Given the description of an element on the screen output the (x, y) to click on. 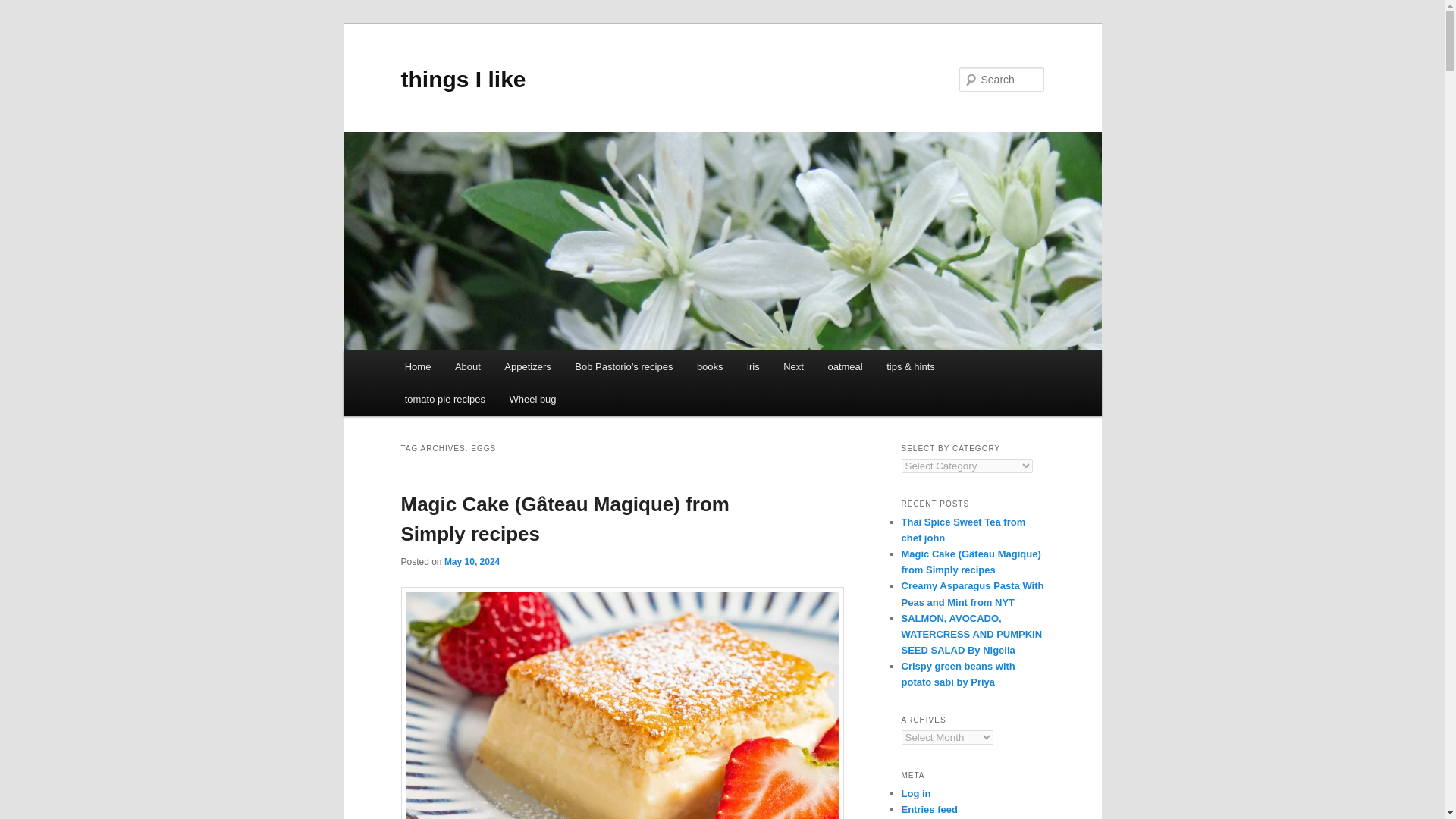
Wheel bug (533, 399)
oatmeal (845, 366)
Home (417, 366)
About (467, 366)
iris (753, 366)
tomato pie recipes (445, 399)
May 10, 2024 (471, 561)
1:24 pm (471, 561)
Next (793, 366)
things I like (462, 78)
Search (24, 8)
books (709, 366)
Appetizers (528, 366)
